Given the description of an element on the screen output the (x, y) to click on. 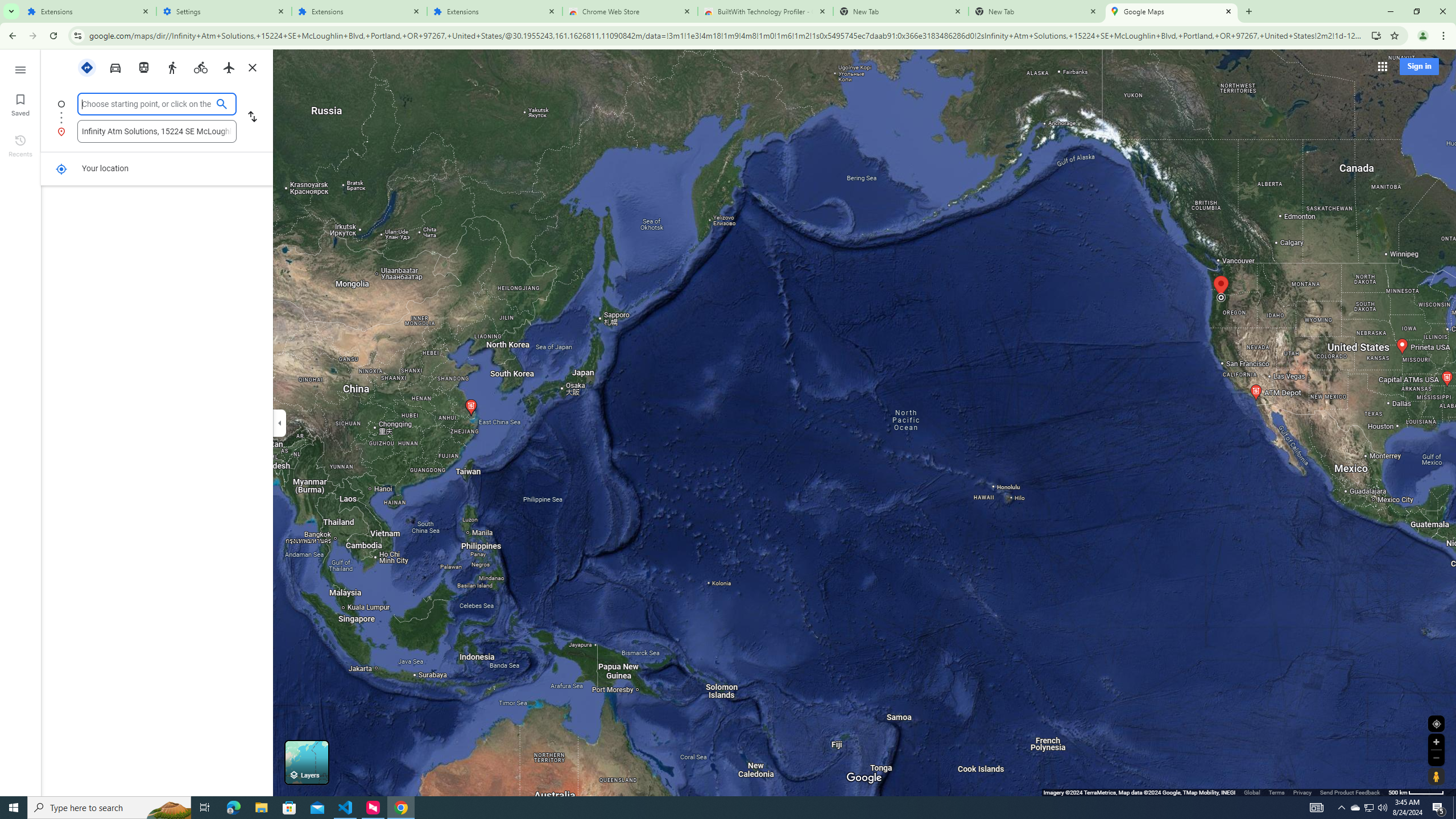
You (1422, 35)
Settings (224, 11)
Chrome (1445, 35)
Cycling (200, 67)
Driving (115, 66)
Transit (143, 66)
Google Maps (1171, 11)
Flights (228, 67)
Extensions (494, 11)
New Tab (1036, 11)
Menu (20, 68)
Sign in (1418, 66)
Privacy (1301, 792)
Bookmark this tab (1393, 35)
